Given the description of an element on the screen output the (x, y) to click on. 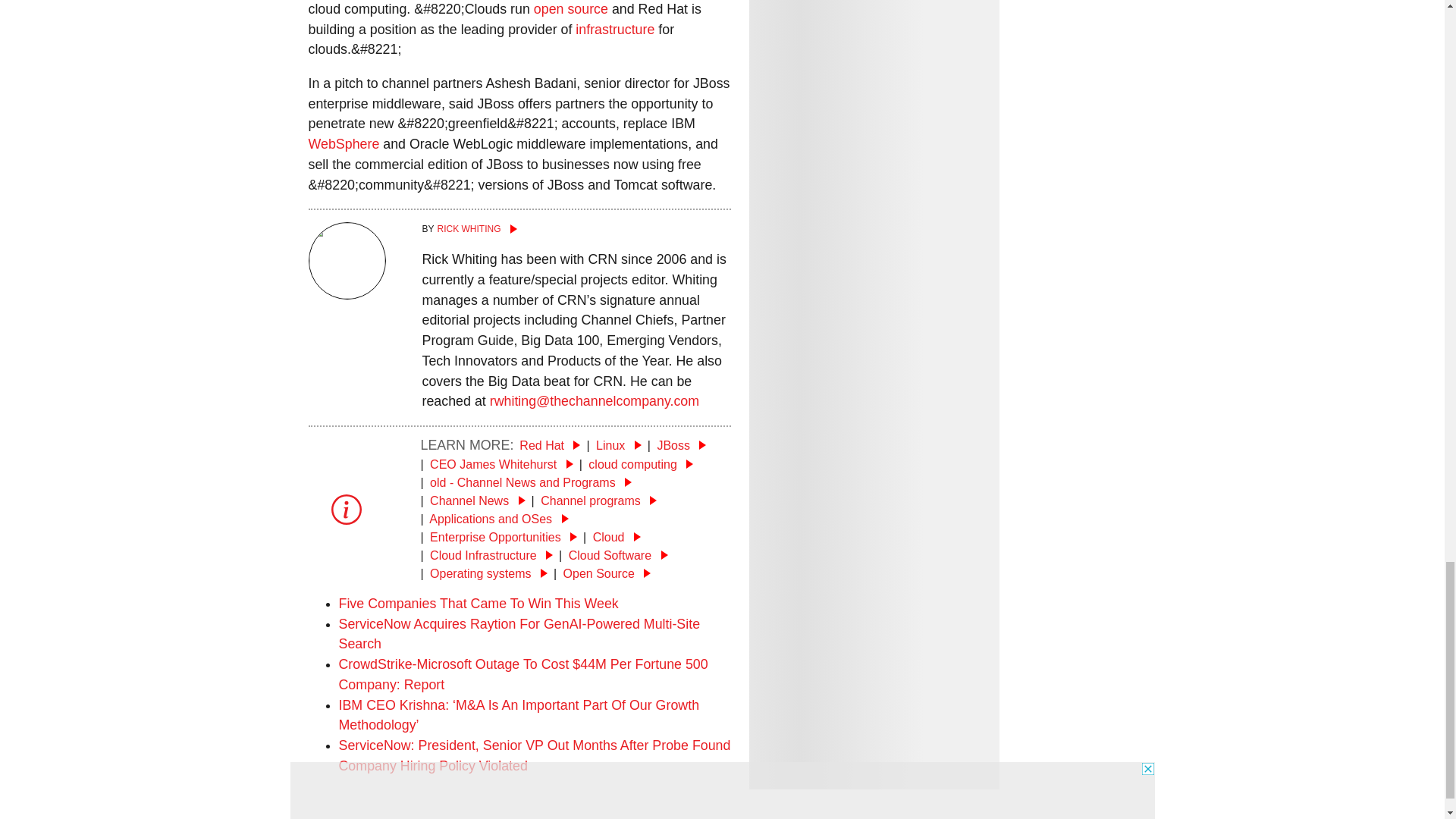
Red Hat (549, 445)
Operating systems (488, 573)
Rick Whiting (576, 228)
Applications and OSes (498, 518)
Channel programs (598, 500)
Cloud Infrastructure (491, 554)
Red Hat (549, 445)
Enterprise Opportunities (502, 536)
CEO James Whitehurst (501, 463)
CEO James Whitehurst (501, 463)
open source (571, 8)
open source (571, 8)
Open Source (606, 573)
RICK WHITING (576, 228)
